Given the description of an element on the screen output the (x, y) to click on. 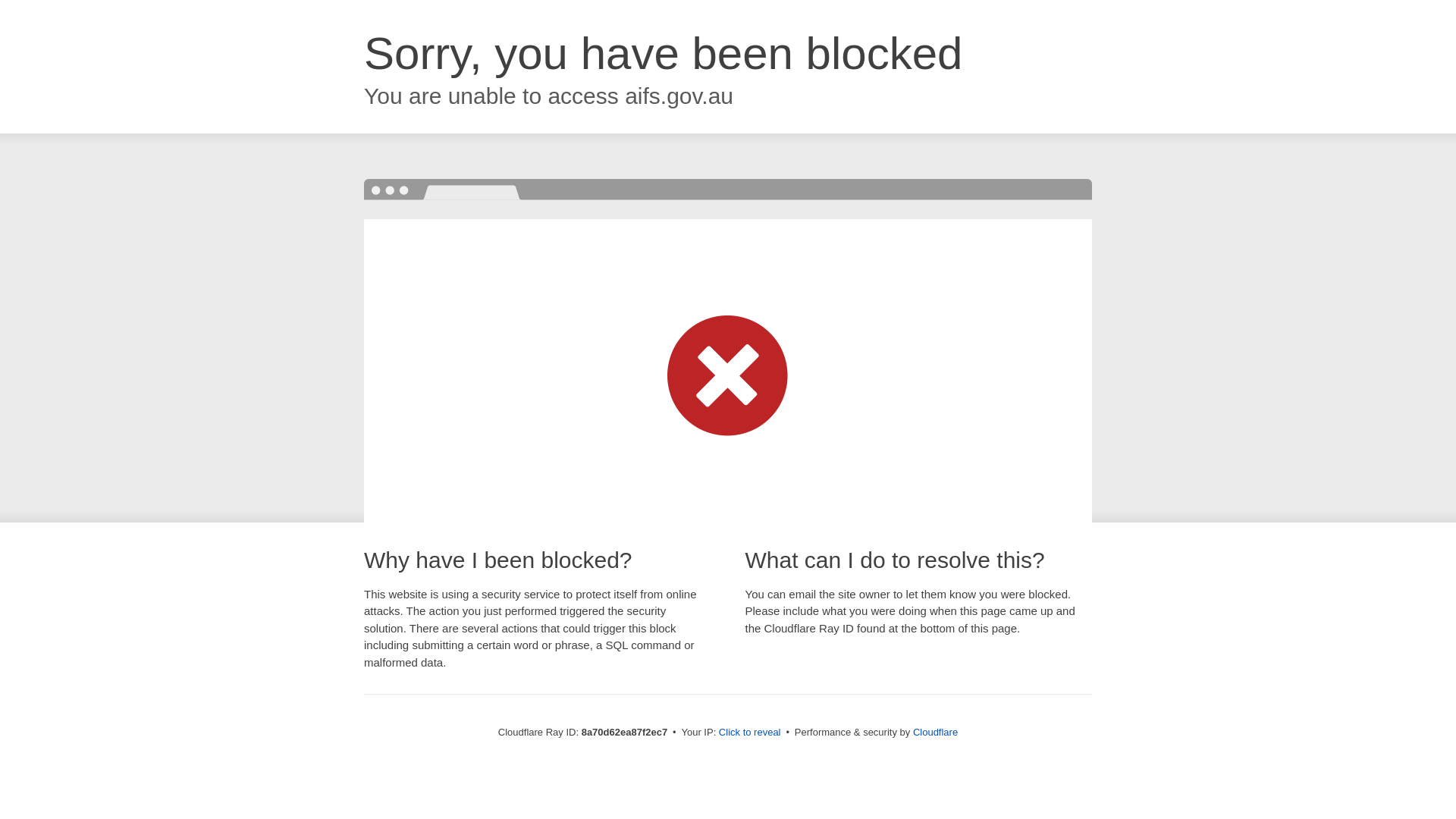
Cloudflare (935, 731)
Click to reveal (749, 732)
